Given the description of an element on the screen output the (x, y) to click on. 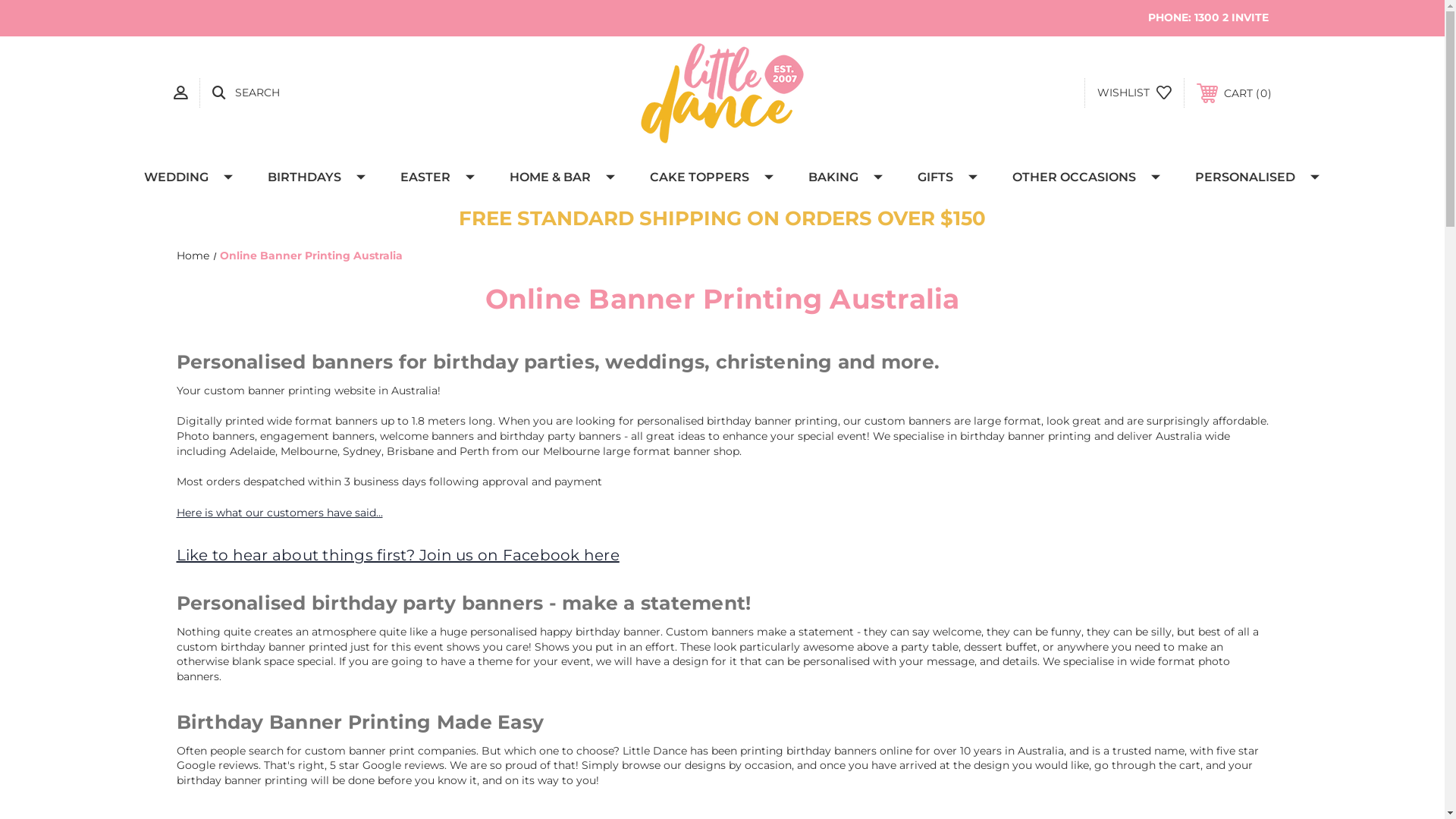
Here is what our customers have said... Element type: text (278, 512)
OTHER OCCASIONS Element type: text (1076, 176)
BAKING Element type: text (835, 176)
SEARCH Element type: text (245, 93)
BIRTHDAYS Element type: text (307, 176)
HOME & BAR Element type: text (552, 176)
WEDDING Element type: text (178, 176)
Like to hear about things first? Join us on Facebook here Element type: text (396, 555)
Little Dance Invitations Element type: hover (721, 93)
1300 2 INVITE Element type: text (1230, 17)
Home Element type: text (191, 255)
EASTER Element type: text (427, 176)
GIFTS Element type: text (937, 176)
CAKE TOPPERS Element type: text (702, 176)
PERSONALISED Element type: text (1247, 176)
WISHLIST Element type: text (1133, 93)
Online Banner Printing Australia Element type: text (310, 255)
CART 0 Element type: text (1233, 93)
